Given the description of an element on the screen output the (x, y) to click on. 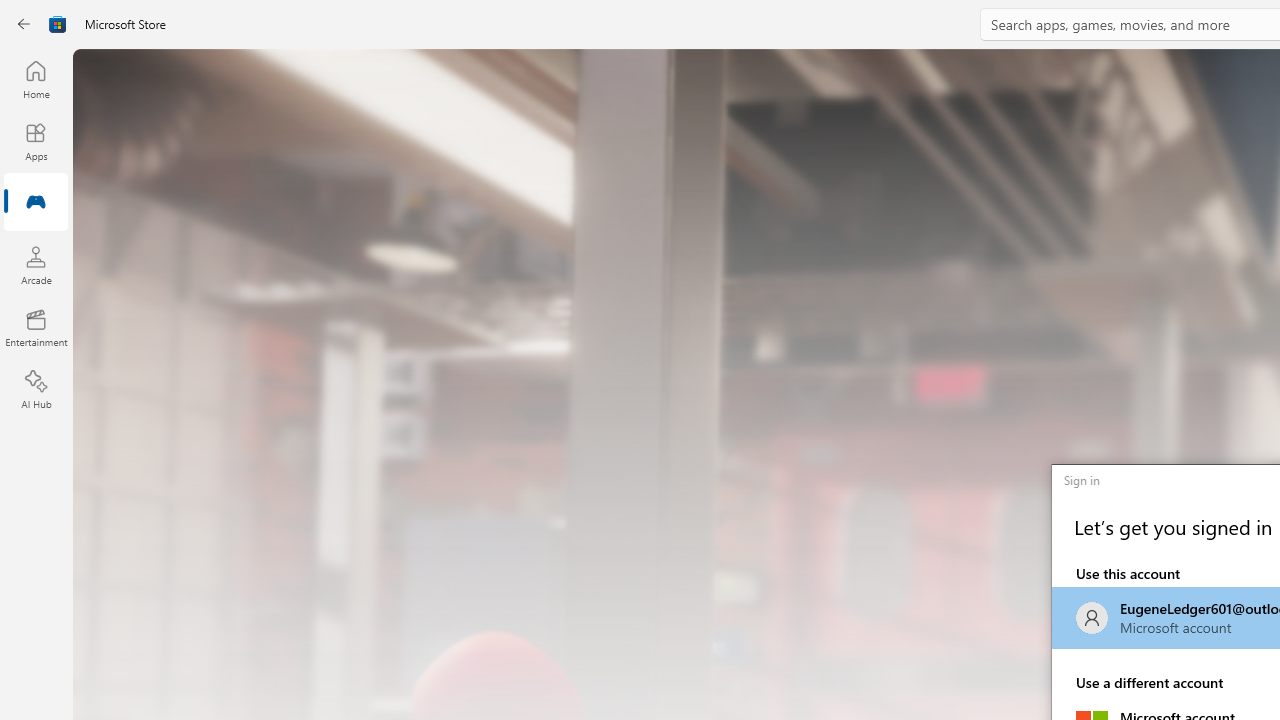
AI Hub (35, 390)
Entertainment (35, 327)
Class: Image (58, 24)
Apps (35, 141)
Back (24, 24)
Home (35, 79)
Gaming (35, 203)
Arcade (35, 265)
